Given the description of an element on the screen output the (x, y) to click on. 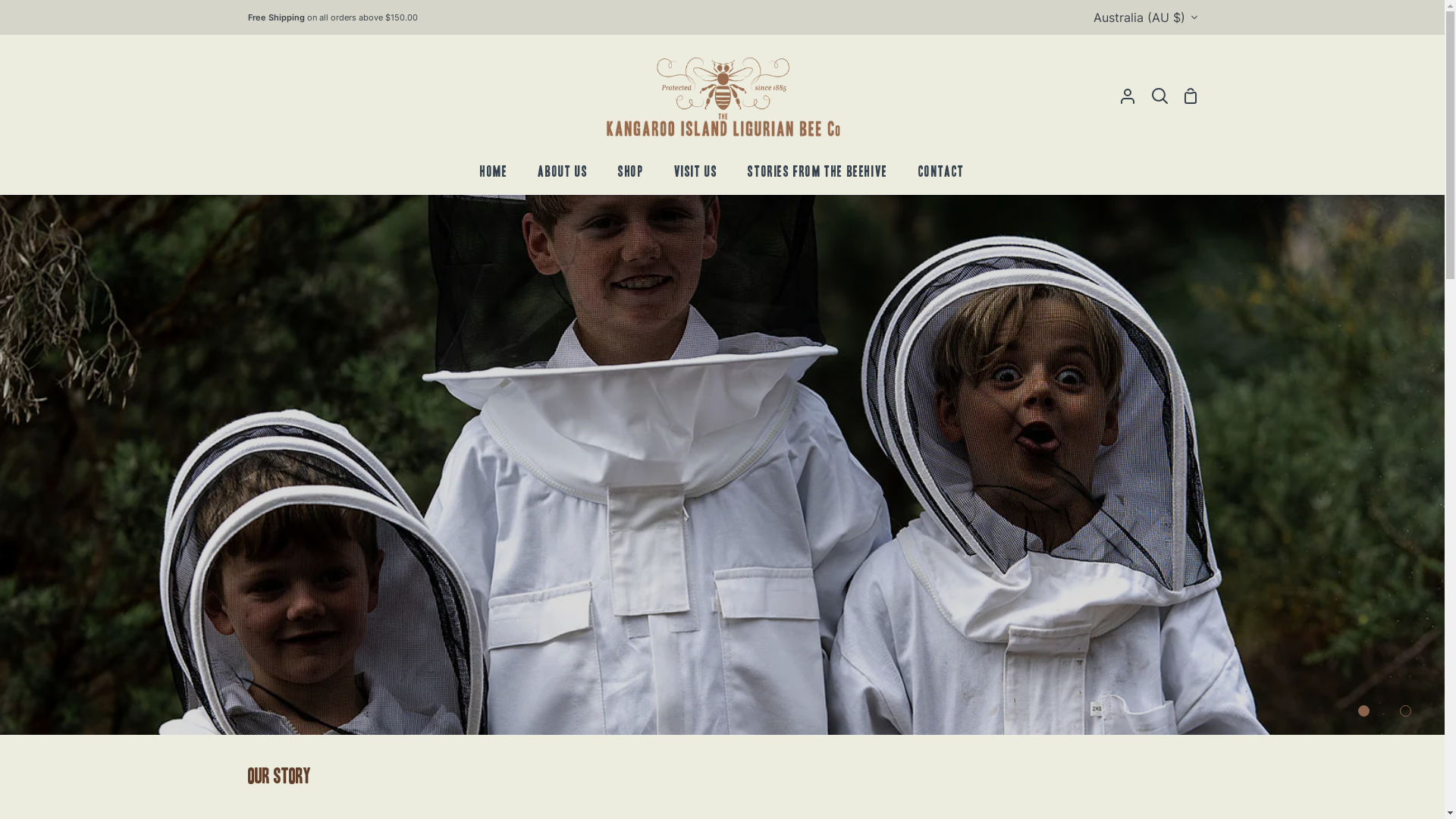
SHOP Element type: text (630, 175)
Search Element type: text (1159, 95)
VISIT US Element type: text (695, 175)
View slide 2 Element type: text (1405, 710)
Australia (AU $) Element type: text (1145, 17)
HOME Element type: text (493, 175)
View slide 1 Element type: text (1363, 710)
My Account Element type: text (1127, 95)
CONTACT Element type: text (941, 175)
ABOUT US Element type: text (562, 175)
Shopping Cart Element type: text (1189, 95)
STORIES FROM THE BEEHIVE Element type: text (817, 175)
